Given the description of an element on the screen output the (x, y) to click on. 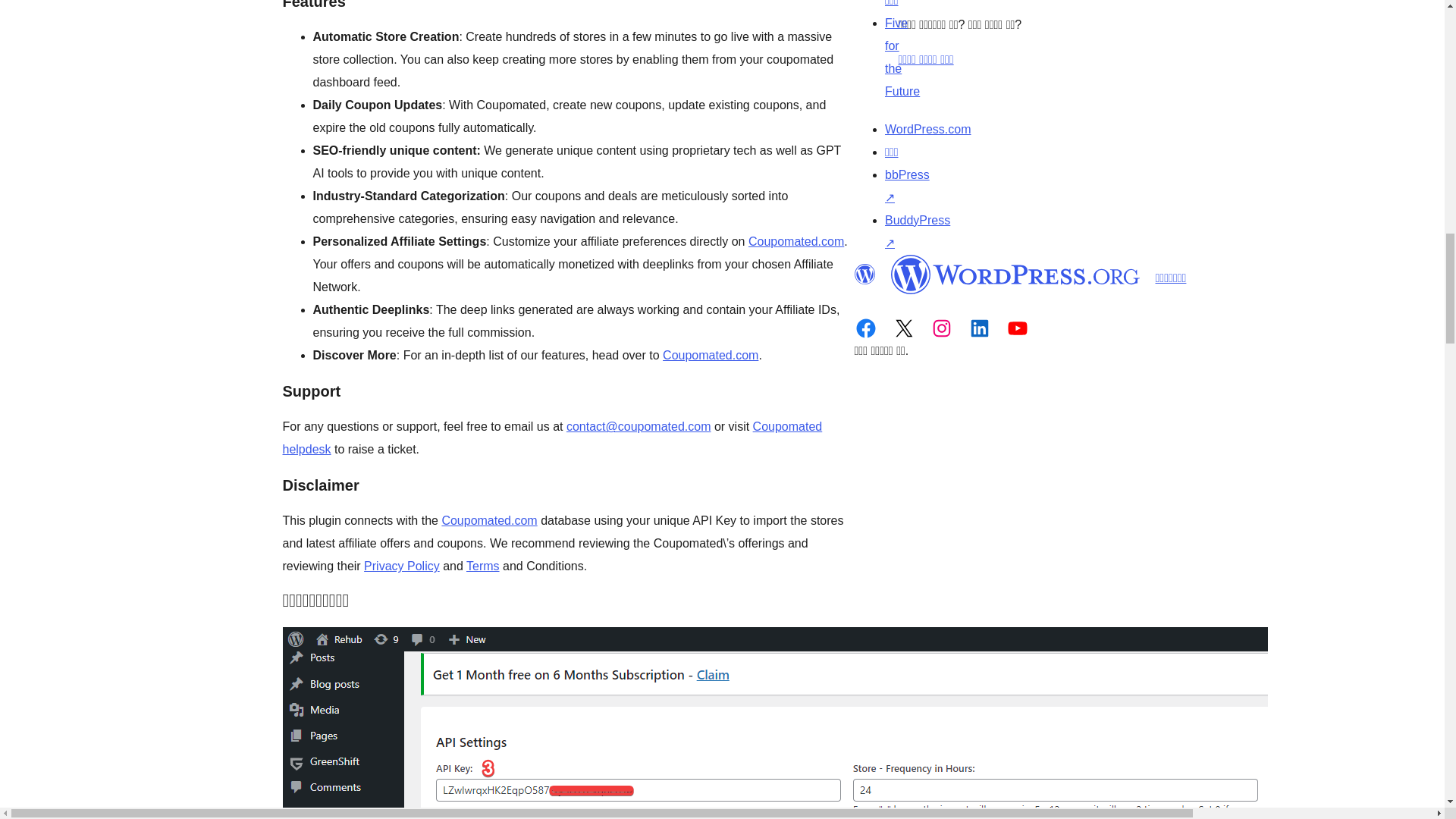
WordPress.org (1014, 274)
Coupomated.com (710, 354)
Coupomated.com (796, 241)
Coupomated helpdesk (552, 437)
Coupomated.com (489, 520)
WordPress.org (864, 274)
